Given the description of an element on the screen output the (x, y) to click on. 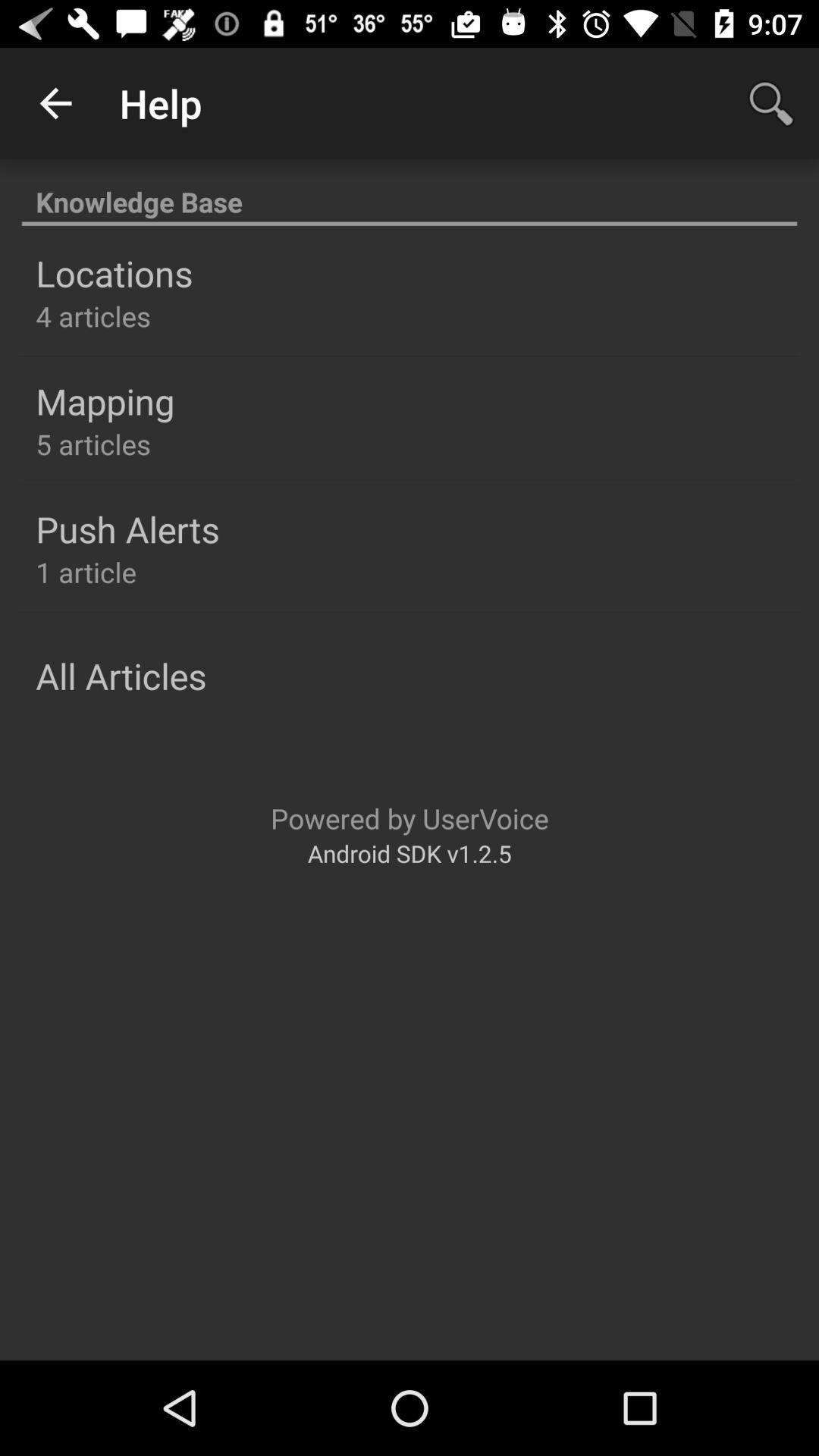
scroll until the push alerts item (127, 529)
